Given the description of an element on the screen output the (x, y) to click on. 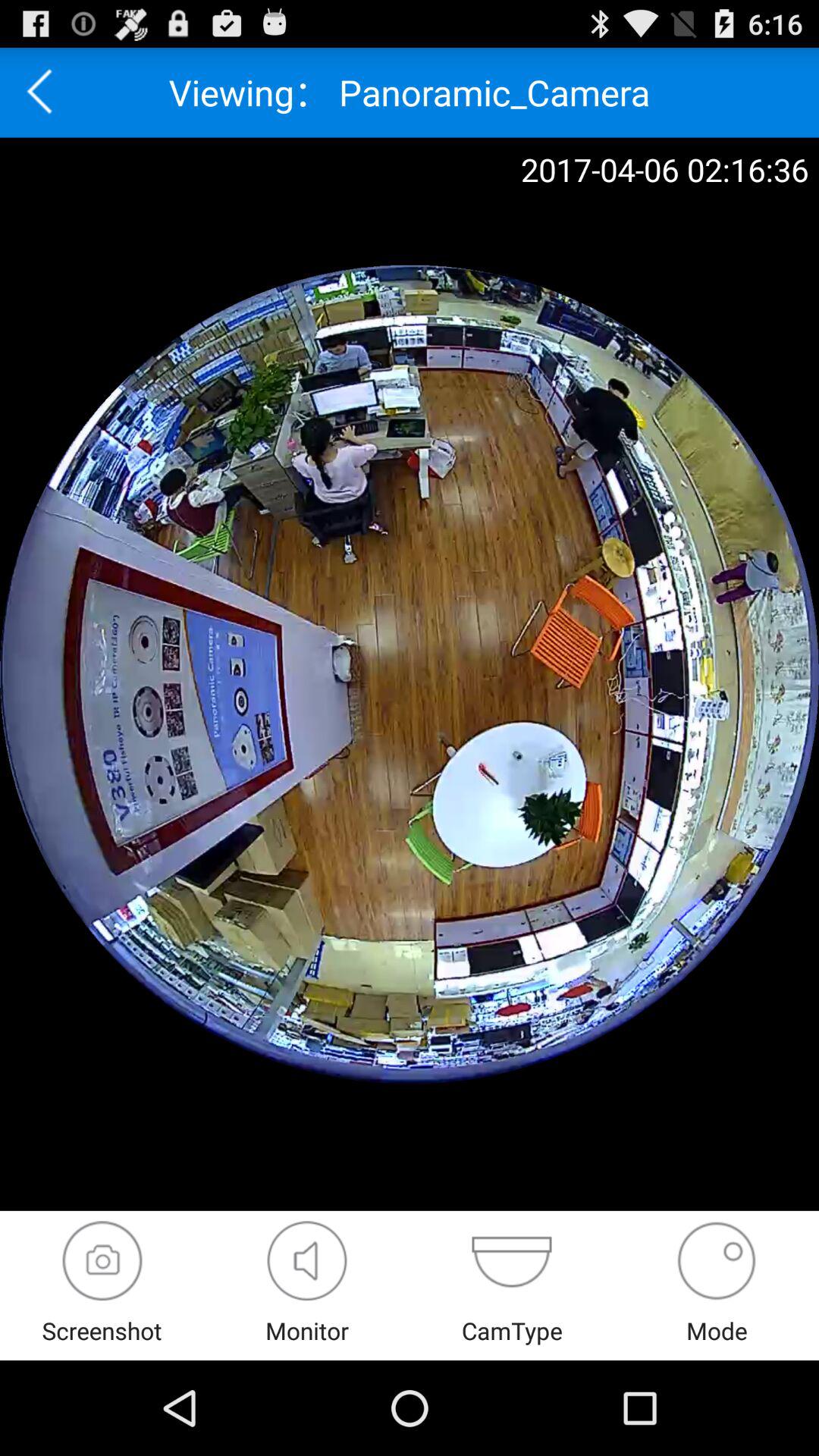
camera changer (511, 1260)
